Given the description of an element on the screen output the (x, y) to click on. 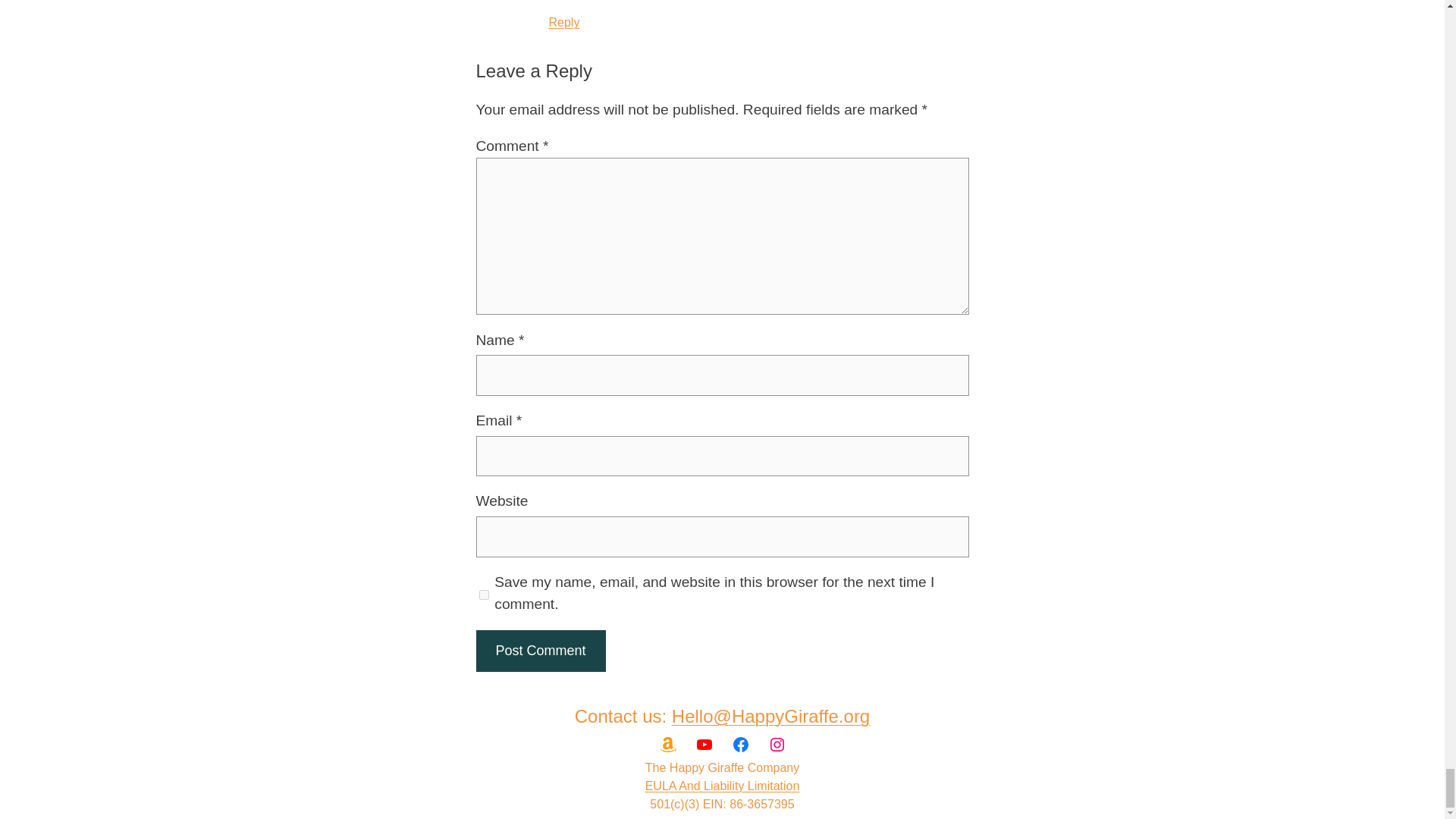
Post Comment (540, 650)
